Given the description of an element on the screen output the (x, y) to click on. 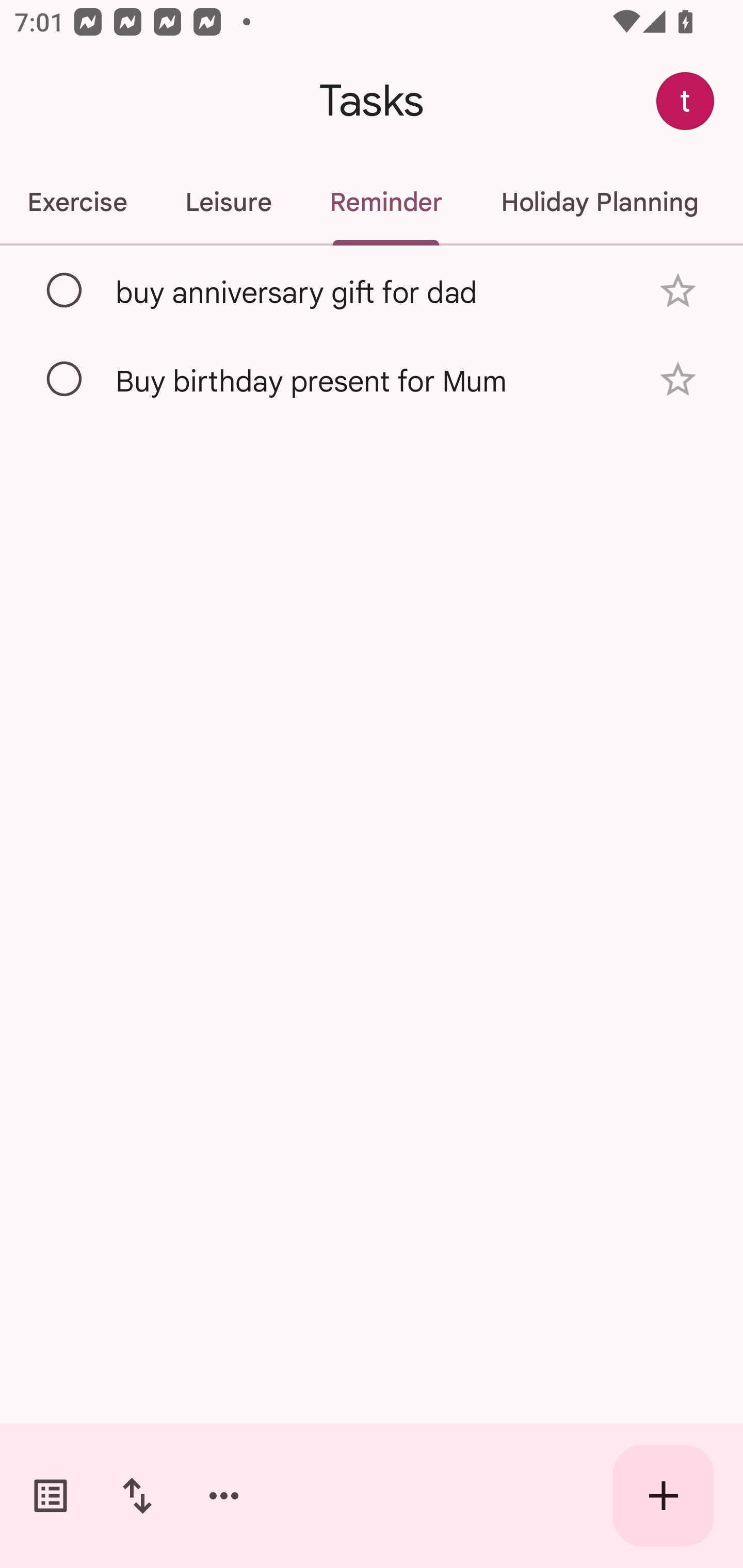
Exercise (78, 202)
Leisure (228, 202)
Holiday Planning (599, 202)
Add star (677, 290)
Mark as complete (64, 290)
Add star (677, 379)
Mark as complete (64, 379)
Switch task lists (50, 1495)
Create new task (663, 1495)
Change sort order (136, 1495)
More options (223, 1495)
